Given the description of an element on the screen output the (x, y) to click on. 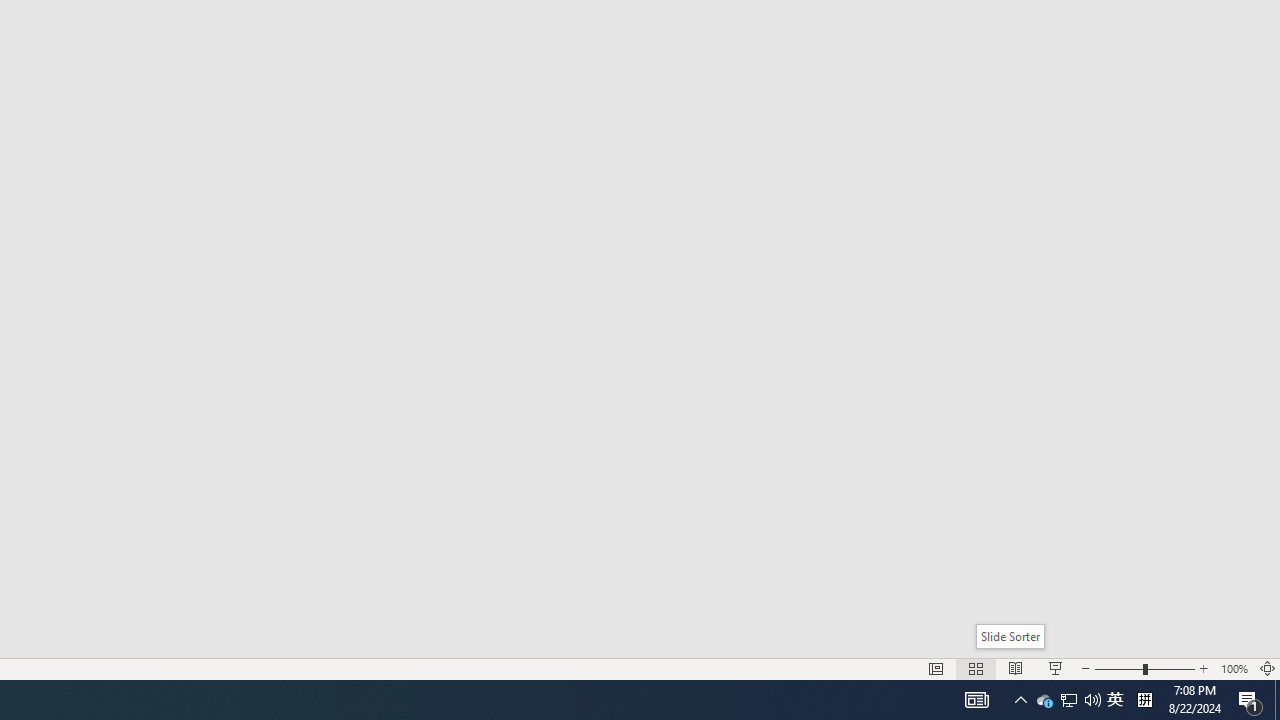
Slide Sorter (1009, 636)
Zoom 100% (1234, 668)
Zoom (1144, 668)
Zoom In (1204, 668)
Zoom to Fit  (1267, 668)
Reading View (1015, 668)
Slide Sorter (975, 668)
Normal (936, 668)
Zoom Out (1118, 668)
